Given the description of an element on the screen output the (x, y) to click on. 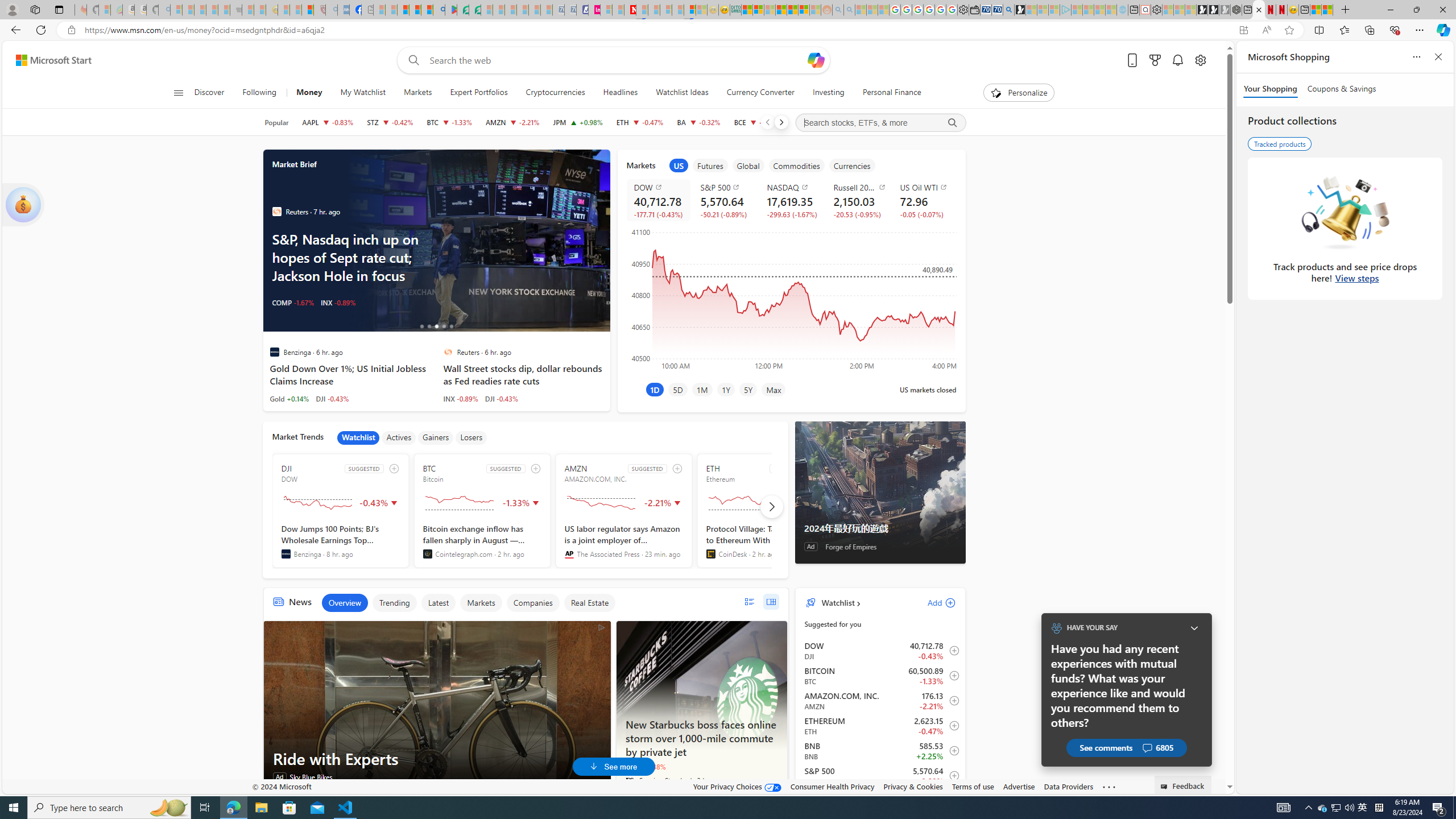
Personalize (1019, 92)
Dow Jumps 100 Points; BJ's Wholesale Earnings Top Estimates (340, 540)
Class: oneFooter_seeMore-DS-EntryPoint1-1 (1108, 786)
MSNBC - MSN - Sleeping (379, 9)
Cryptocurrencies (555, 92)
USOIL -0.07% (293, 302)
Cheap Car Rentals - Save70.com (997, 9)
5Y (747, 389)
Data Providers (1068, 785)
Ride with Experts (436, 758)
